Given the description of an element on the screen output the (x, y) to click on. 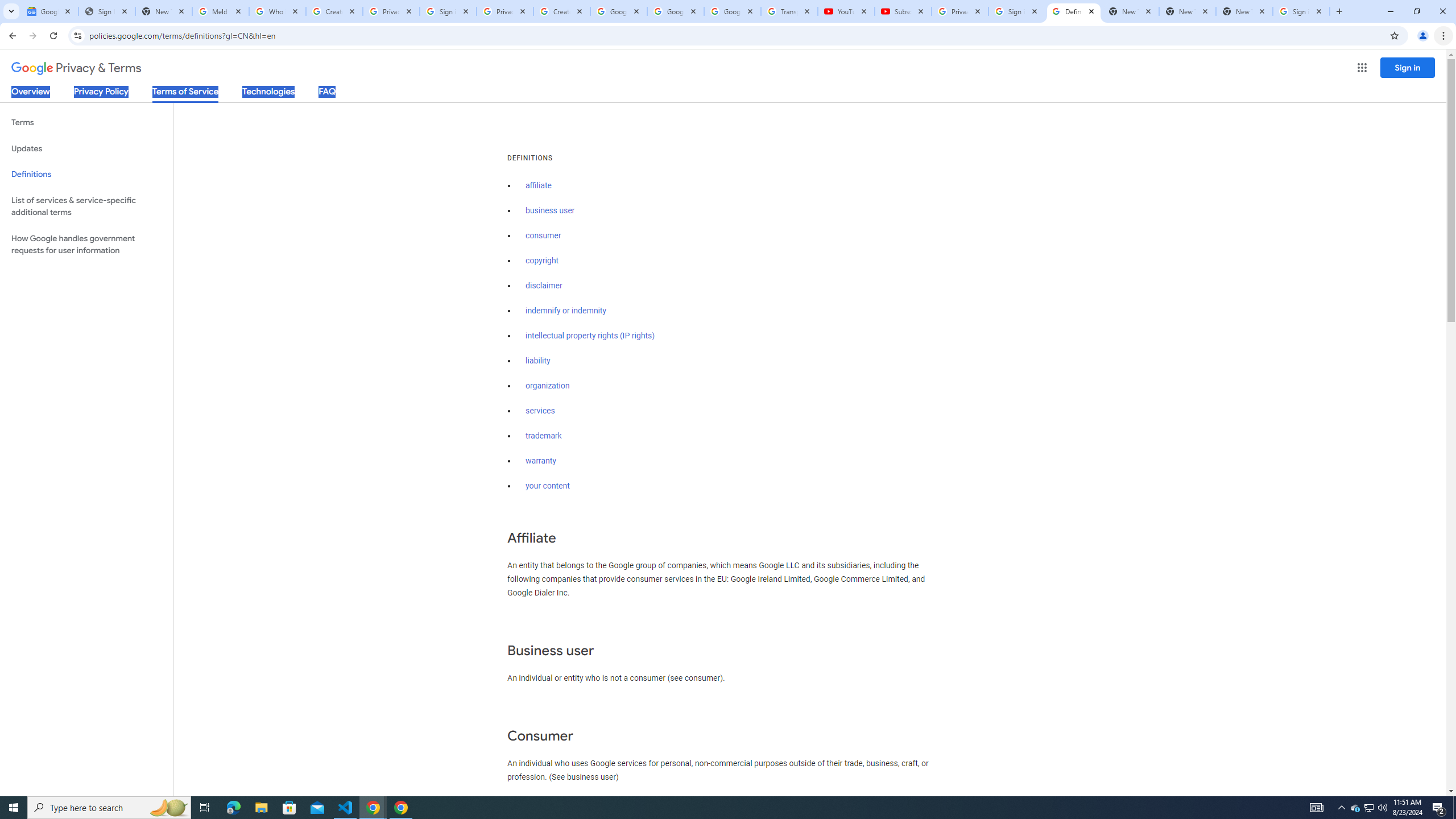
Sign in - Google Accounts (1015, 11)
Who is my administrator? - Google Account Help (277, 11)
Subscriptions - YouTube (902, 11)
liability (537, 361)
business user (550, 210)
YouTube (845, 11)
Google Account (731, 11)
intellectual property rights (IP rights) (590, 335)
List of services & service-specific additional terms (86, 206)
